Given the description of an element on the screen output the (x, y) to click on. 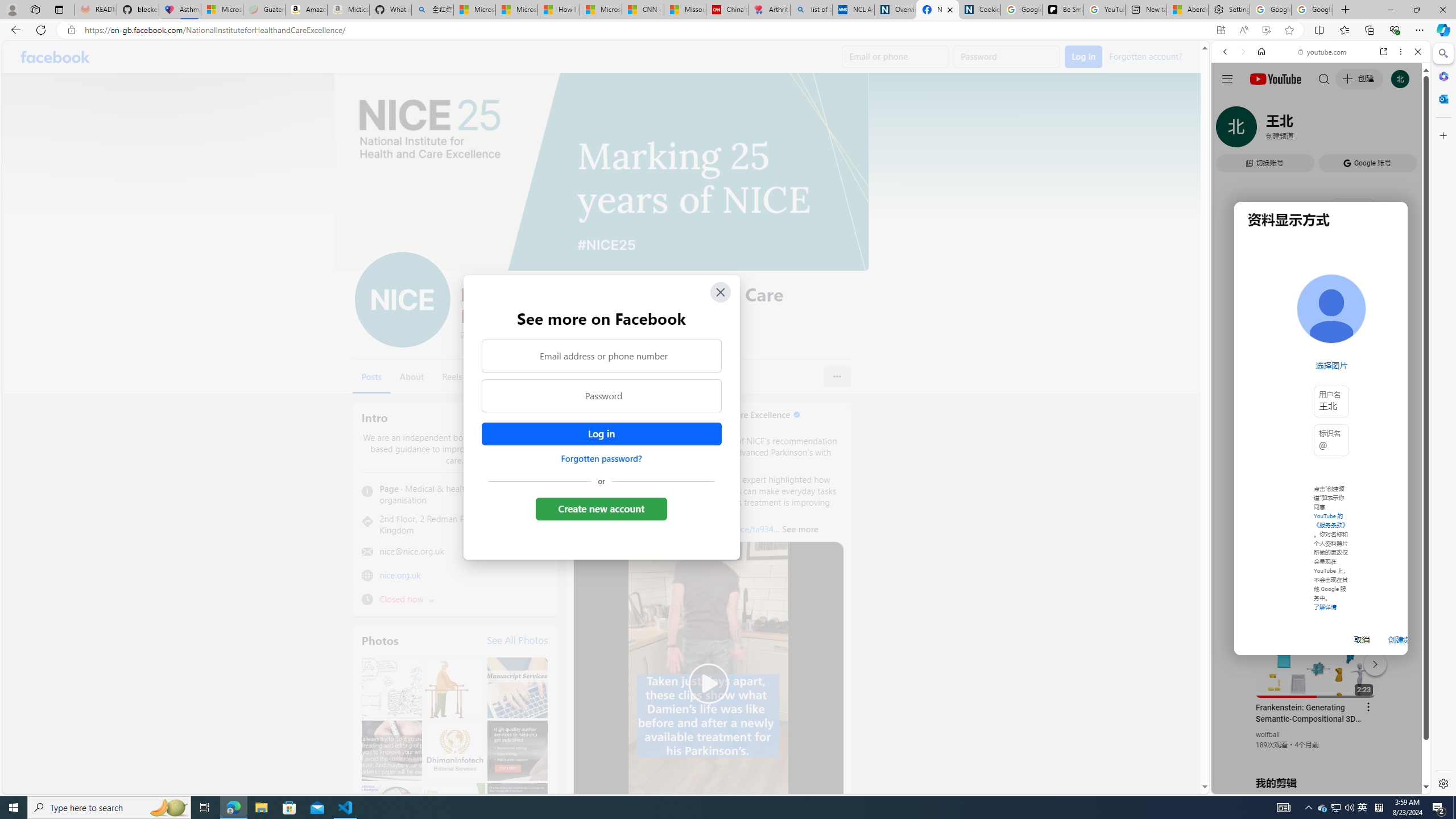
Password (600, 395)
